Given the description of an element on the screen output the (x, y) to click on. 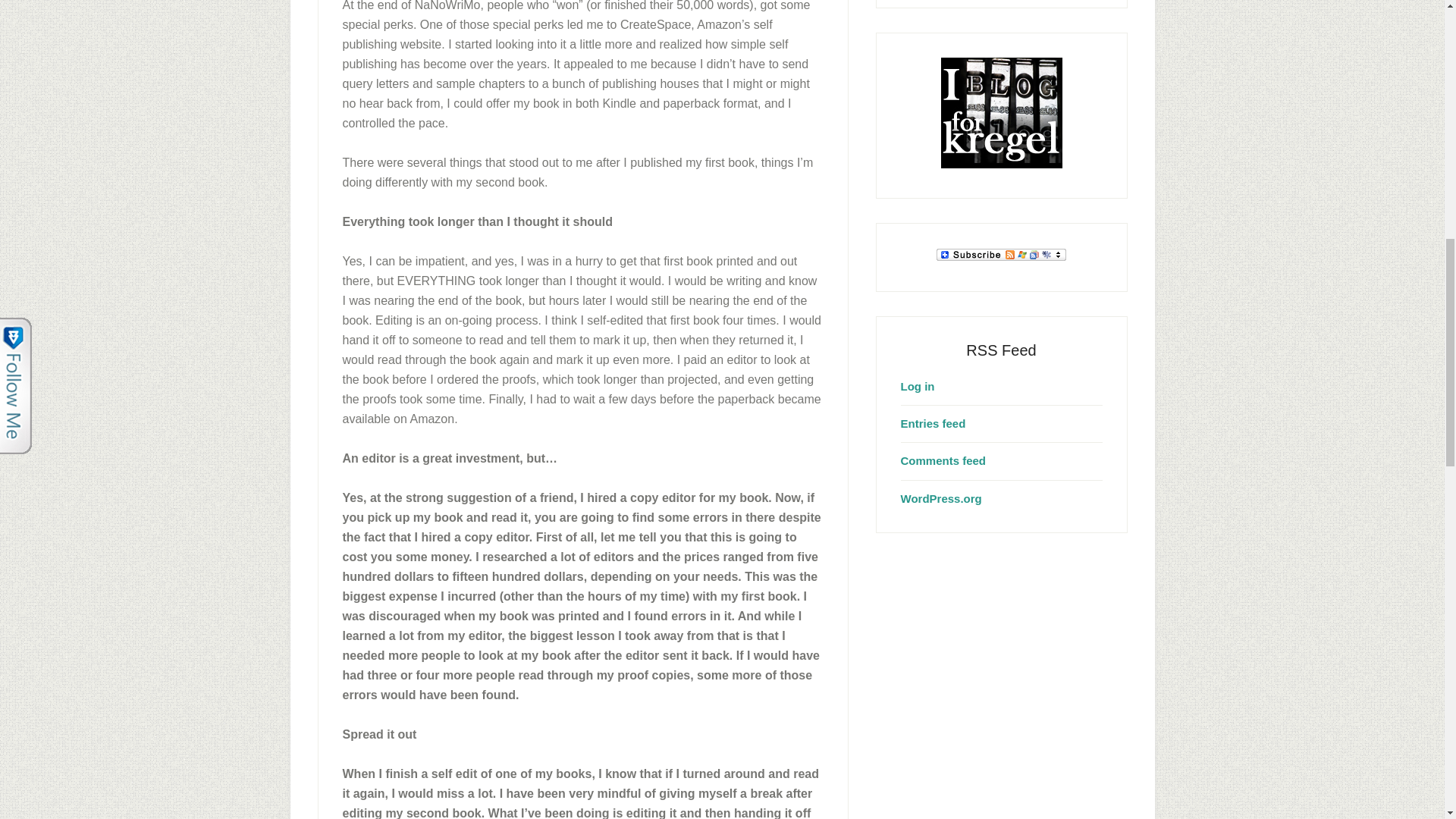
Comments feed (944, 460)
WordPress.org (941, 498)
Log in (917, 385)
Entries feed (933, 422)
